Given the description of an element on the screen output the (x, y) to click on. 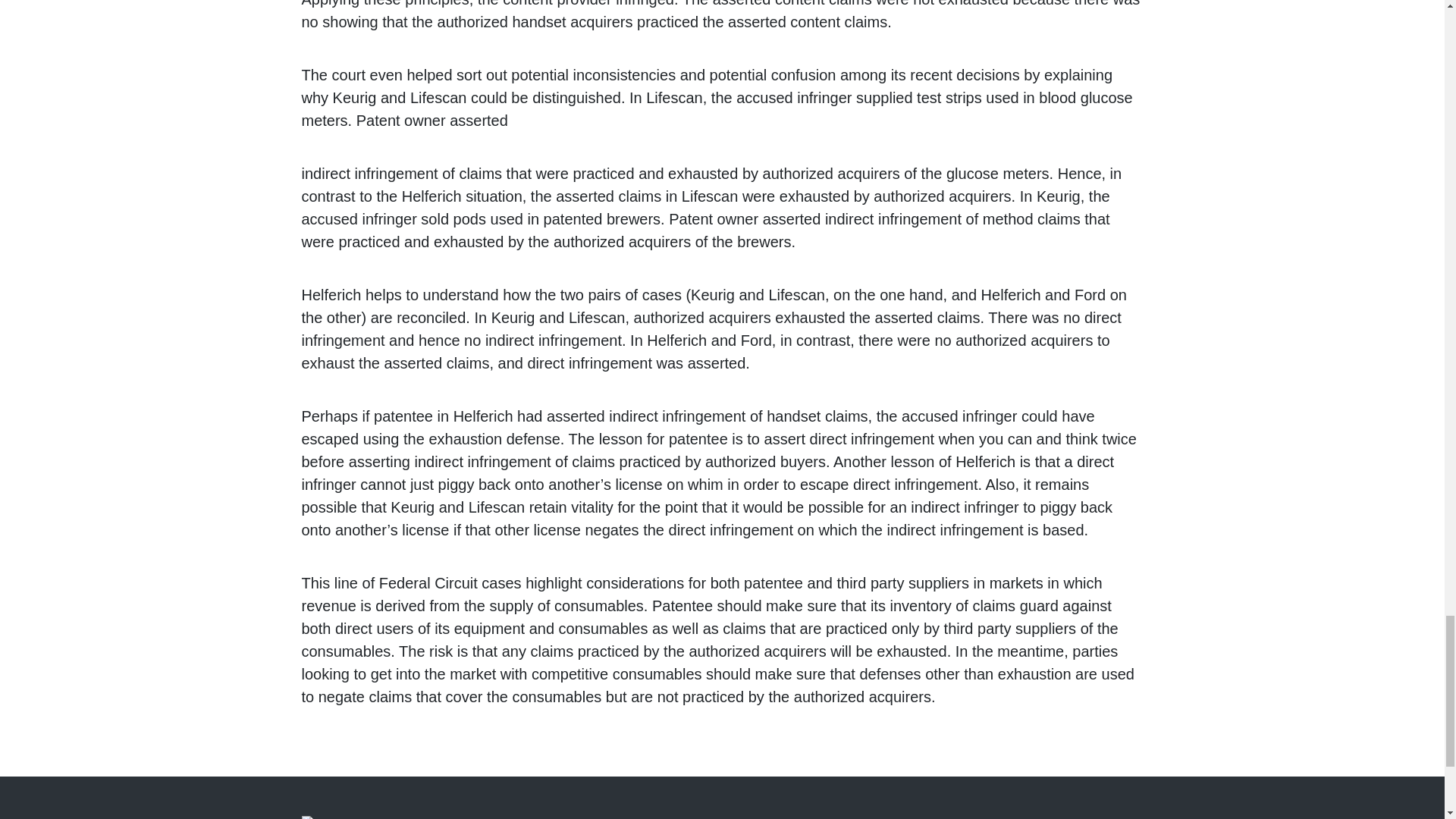
About Kagan Binder (831, 818)
Careers (983, 818)
651.351.2900 (563, 818)
Contact Us (1105, 818)
